Given the description of an element on the screen output the (x, y) to click on. 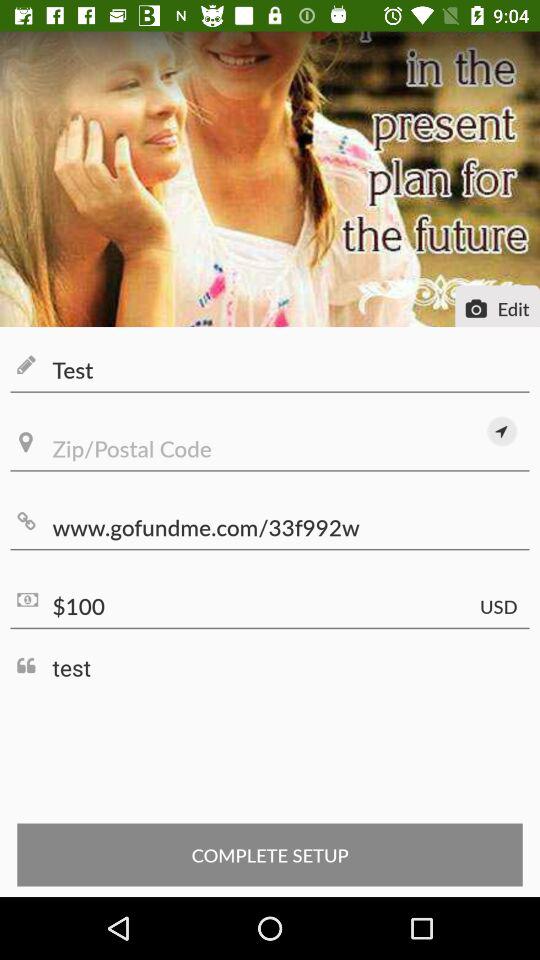
choose www gofundme com (269, 527)
